Given the description of an element on the screen output the (x, y) to click on. 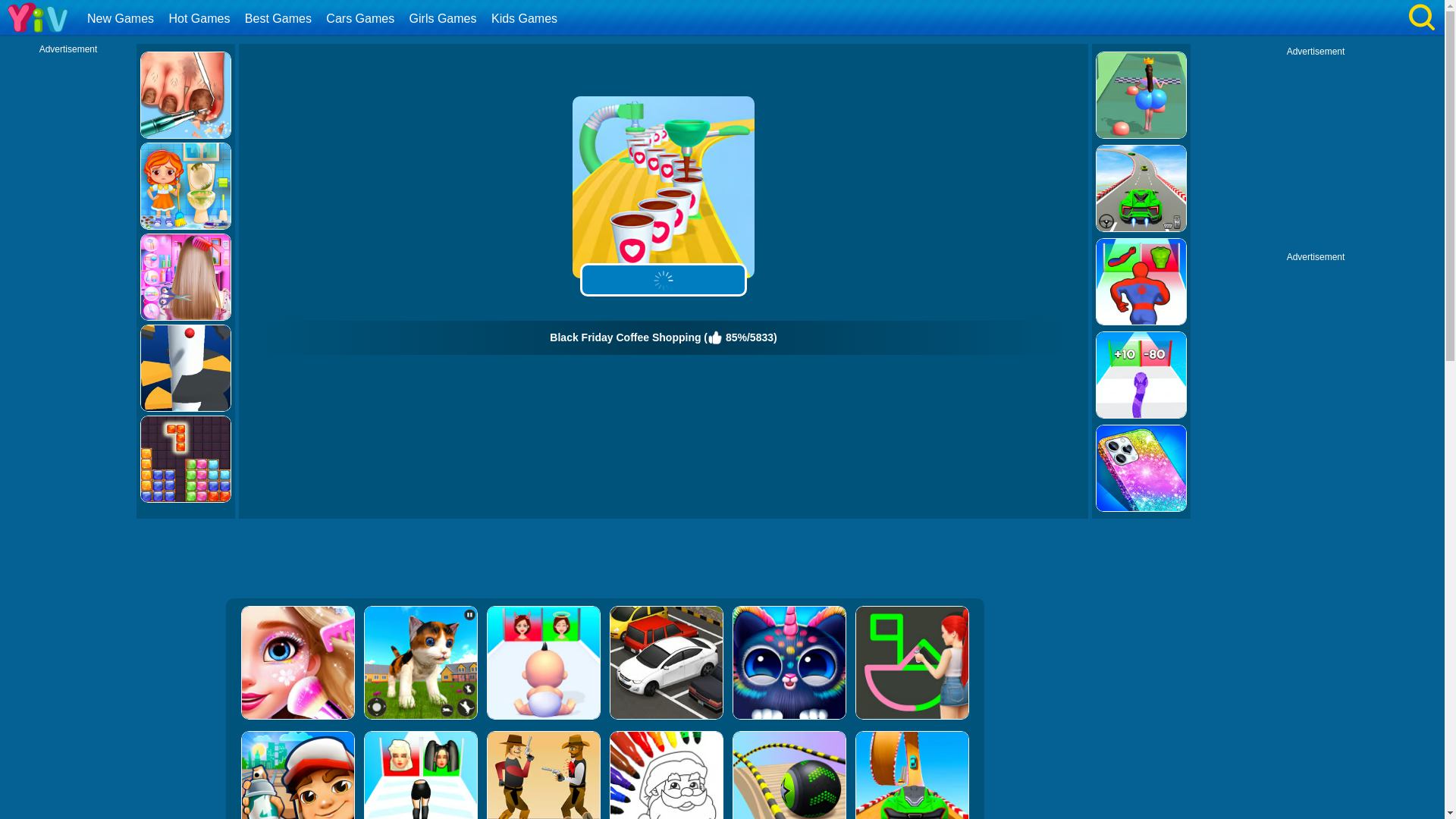
New Games (121, 18)
Kids Games (525, 18)
Advertisement (1315, 152)
Cars Games (361, 18)
Advertisement (603, 560)
Best Games (279, 18)
Hot Games (200, 18)
Girls Games (445, 18)
